Given the description of an element on the screen output the (x, y) to click on. 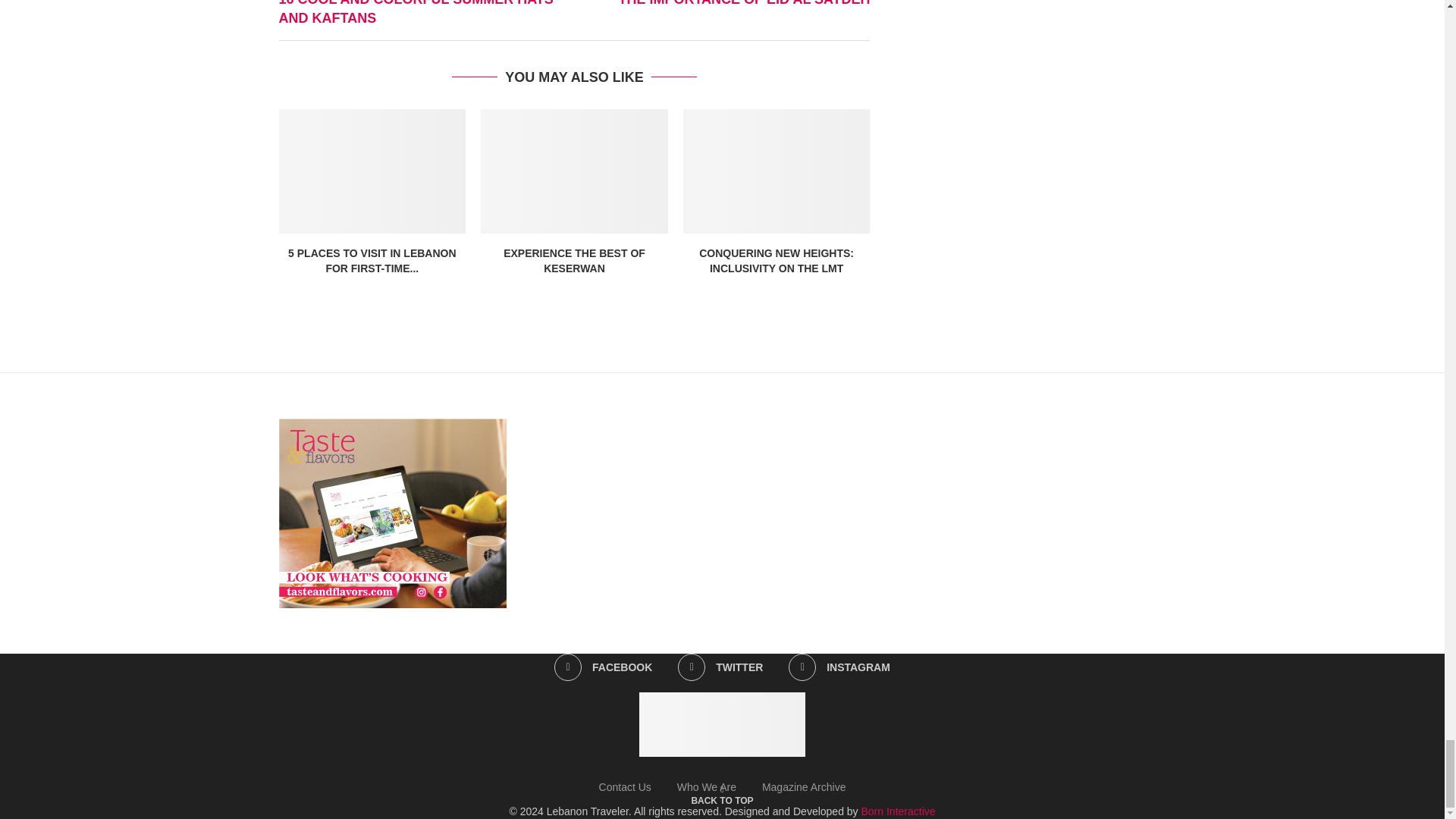
Conquering New Heights: Inclusivity on the LMT (776, 170)
Experience the Best of Keserwan (574, 170)
5 Places to Visit in Lebanon for First-Time Travelers (372, 170)
